Given the description of an element on the screen output the (x, y) to click on. 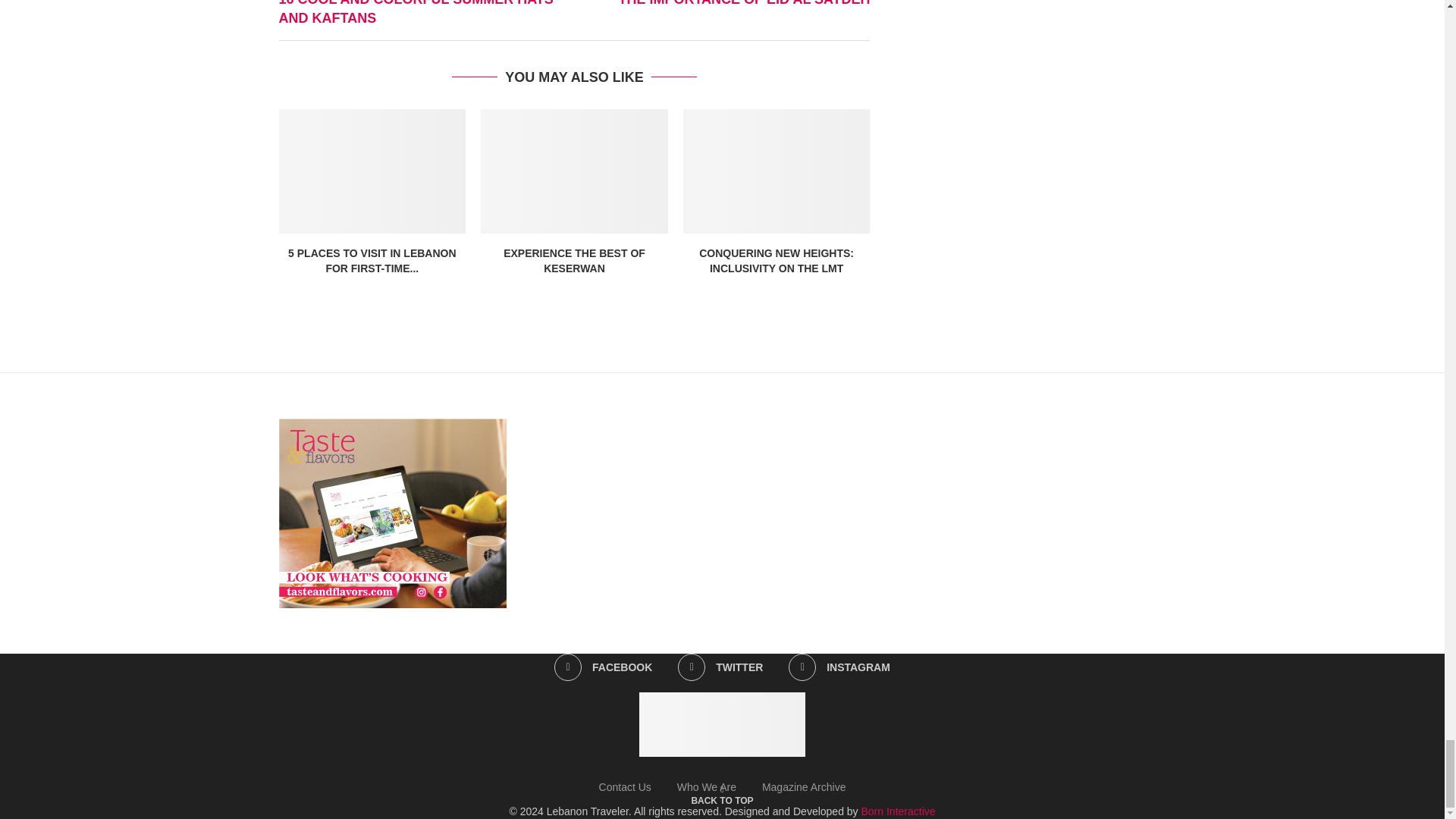
Conquering New Heights: Inclusivity on the LMT (776, 170)
Experience the Best of Keserwan (574, 170)
5 Places to Visit in Lebanon for First-Time Travelers (372, 170)
